Given the description of an element on the screen output the (x, y) to click on. 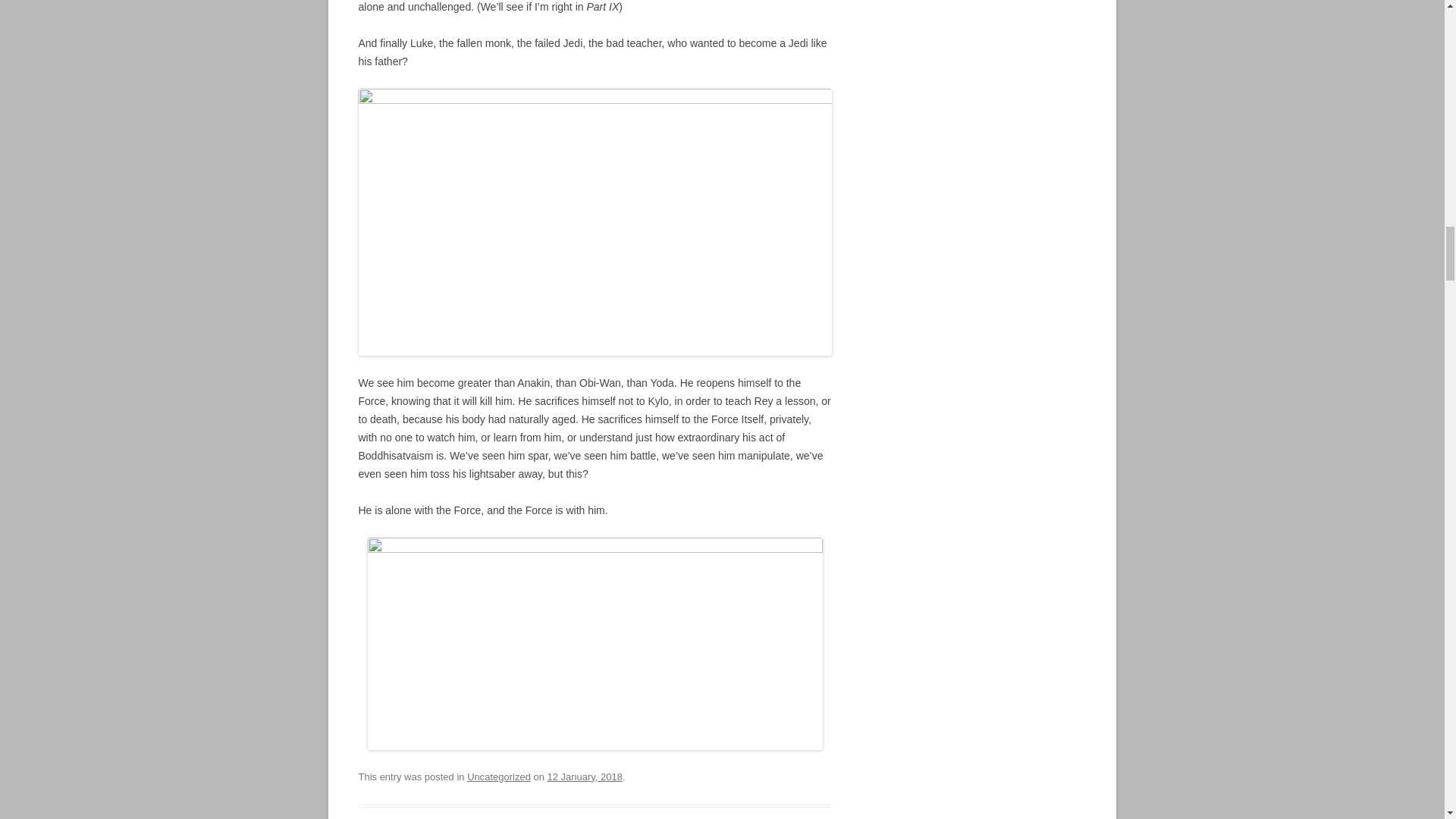
8:36 pm (585, 776)
Uncategorized (499, 776)
12 January, 2018 (585, 776)
